Given the description of an element on the screen output the (x, y) to click on. 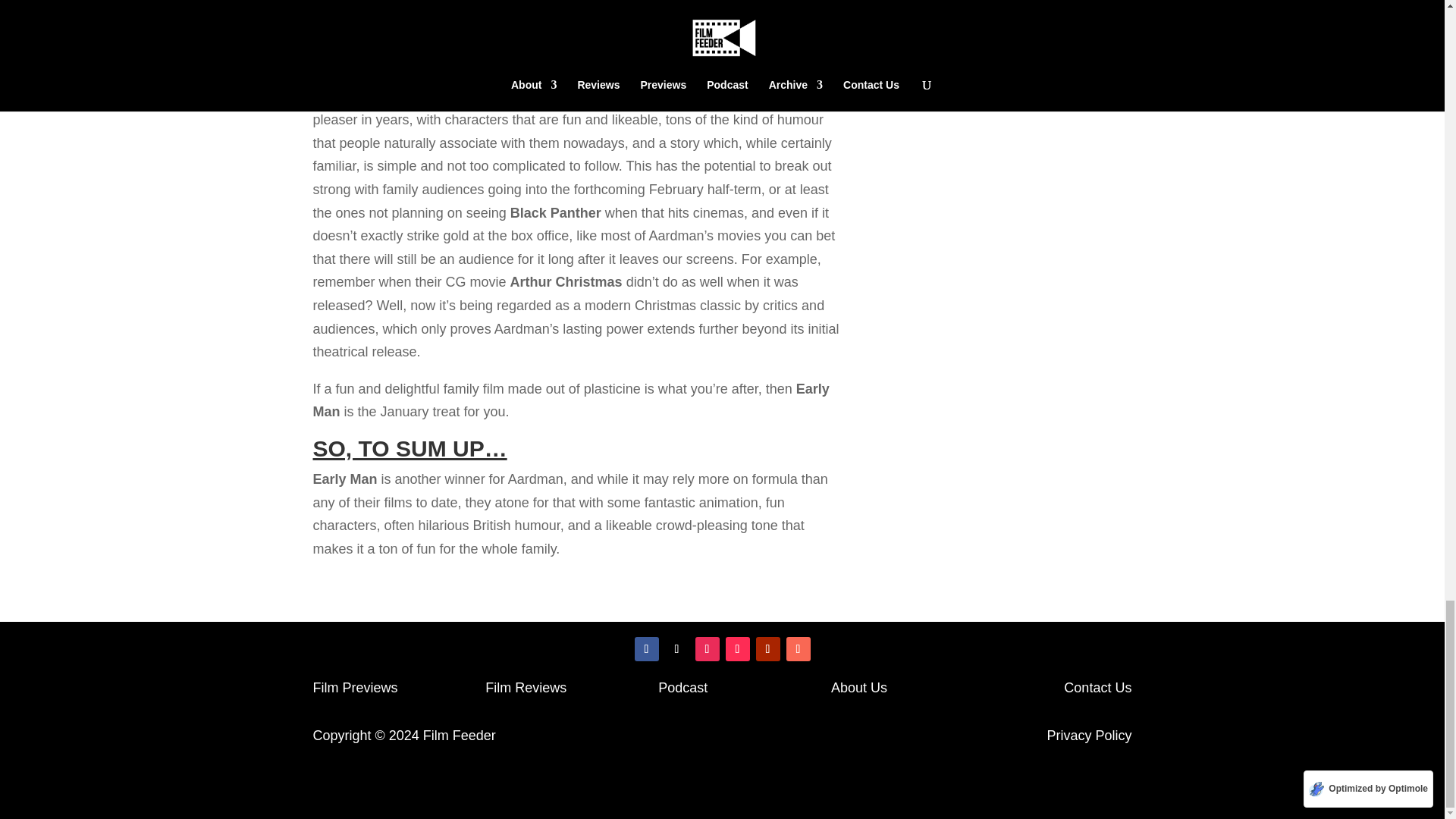
Follow on Patreon (797, 648)
Follow on Instagram (706, 648)
Follow on TikTok (737, 648)
Follow on Facebook (645, 648)
Follow on Youtube (766, 648)
Follow on X (675, 648)
